Given the description of an element on the screen output the (x, y) to click on. 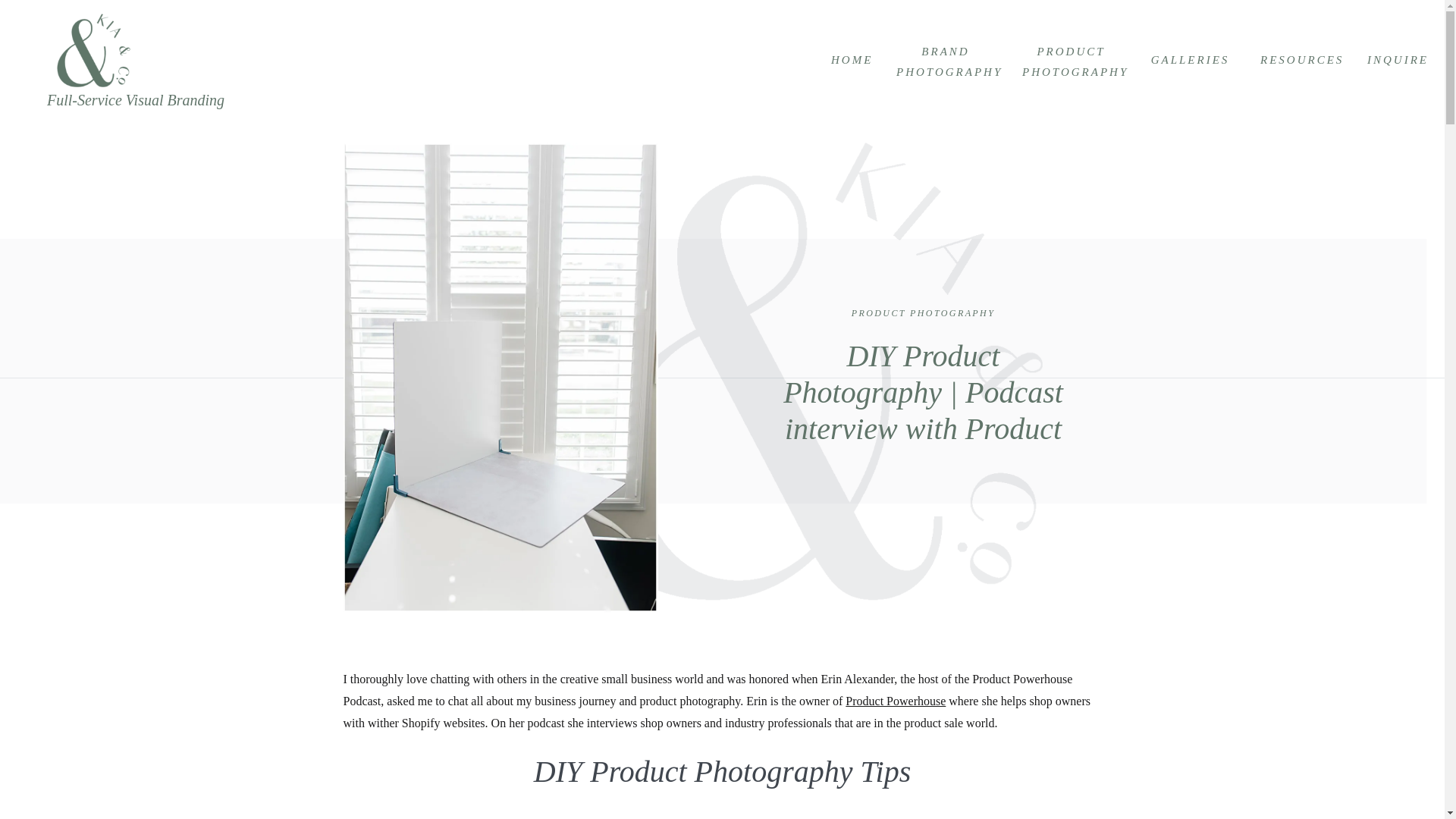
Full-Service Visual Branding (144, 100)
INQUIRE (1394, 58)
RESOURCES (1299, 58)
Product Powerhouse (894, 700)
PRODUCT PHOTOGRAPHY (923, 312)
BRAND PHOTOGRAPHY (945, 58)
PRODUCT PHOTOGRAPHY (1070, 58)
HOME (850, 58)
GALLERIES (1190, 58)
